Given the description of an element on the screen output the (x, y) to click on. 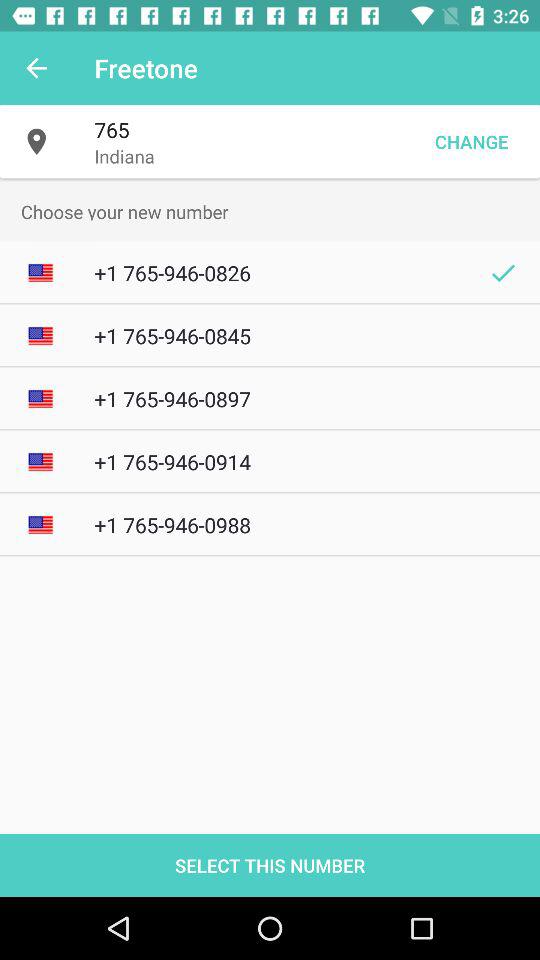
turn off item to the left of the freetone (36, 68)
